Given the description of an element on the screen output the (x, y) to click on. 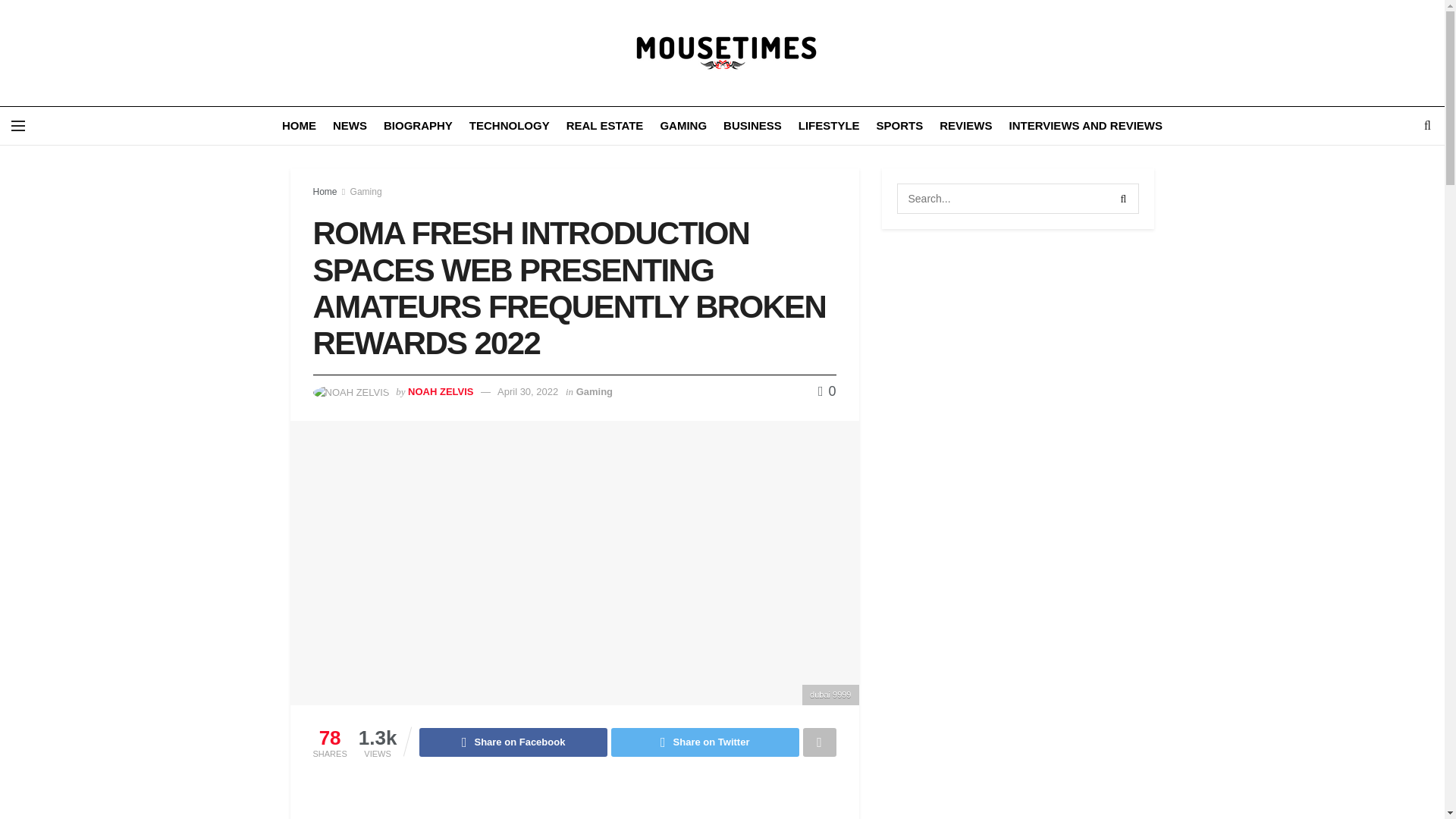
REVIEWS (965, 125)
BIOGRAPHY (418, 125)
NOAH ZELVIS (440, 391)
BUSINESS (752, 125)
Gaming (365, 191)
Home (324, 191)
April 30, 2022 (527, 391)
LIFESTYLE (828, 125)
TECHNOLOGY (509, 125)
Gaming (594, 391)
NEWS (349, 125)
SPORTS (899, 125)
REAL ESTATE (604, 125)
0 (826, 391)
